Given the description of an element on the screen output the (x, y) to click on. 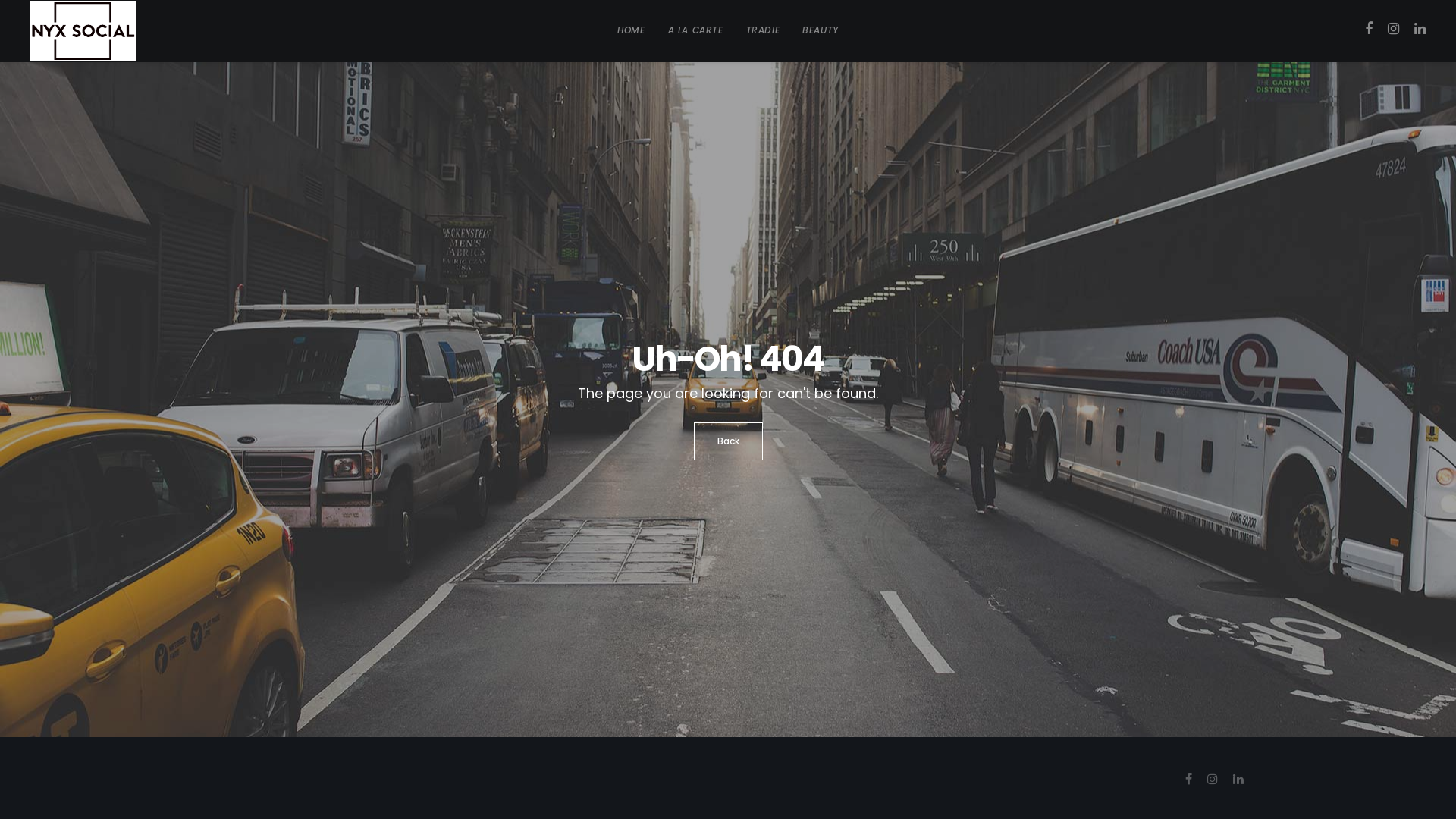
Back Element type: text (727, 441)
HOME Element type: text (630, 30)
BEAUTY Element type: text (820, 30)
A LA CARTE Element type: text (695, 30)
TRADIE Element type: text (763, 30)
